Given the description of an element on the screen output the (x, y) to click on. 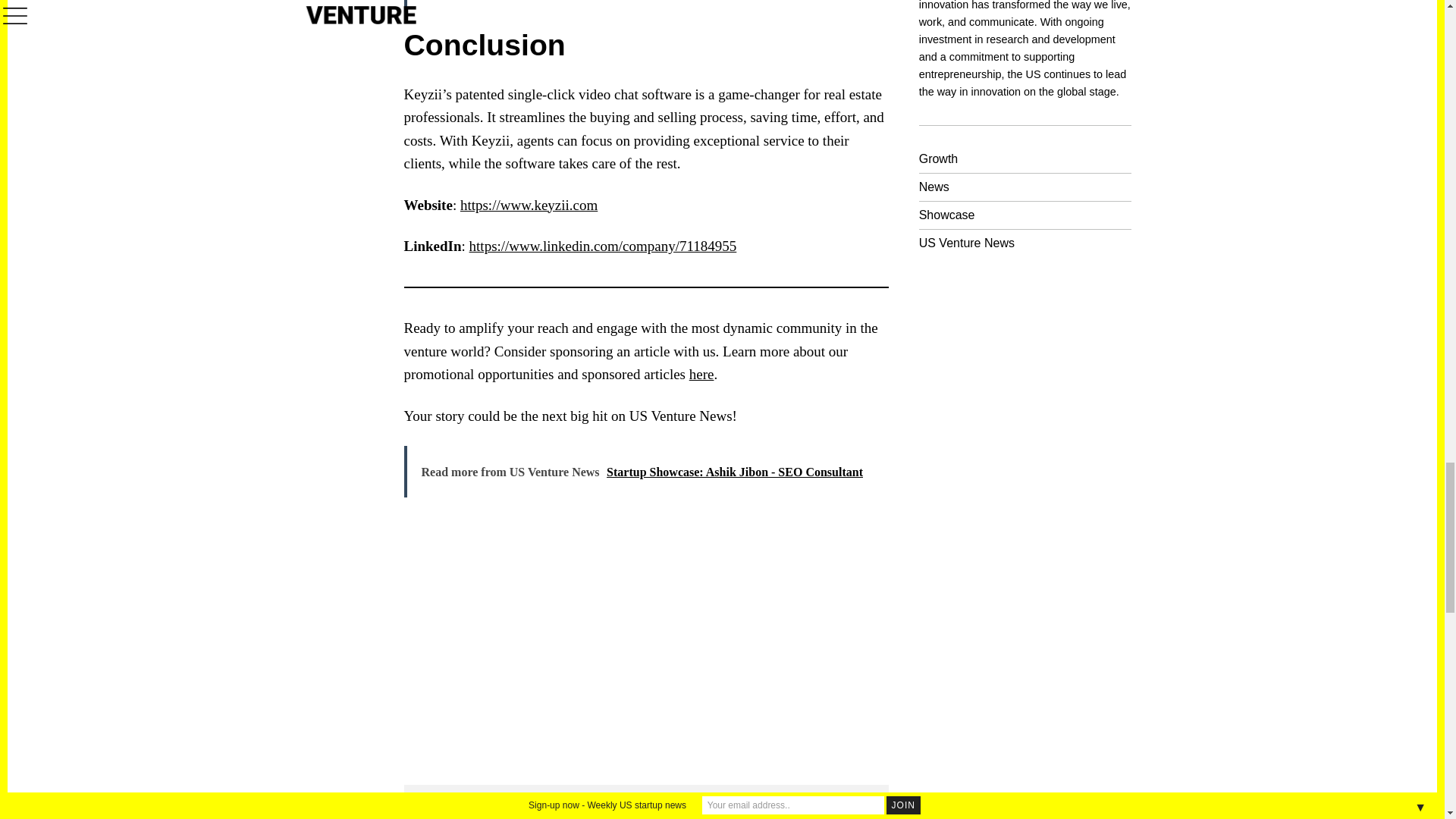
here (701, 374)
LATEST POSTS (697, 815)
Advertisement (708, 648)
US VENTURE NEWS (587, 815)
